Given the description of an element on the screen output the (x, y) to click on. 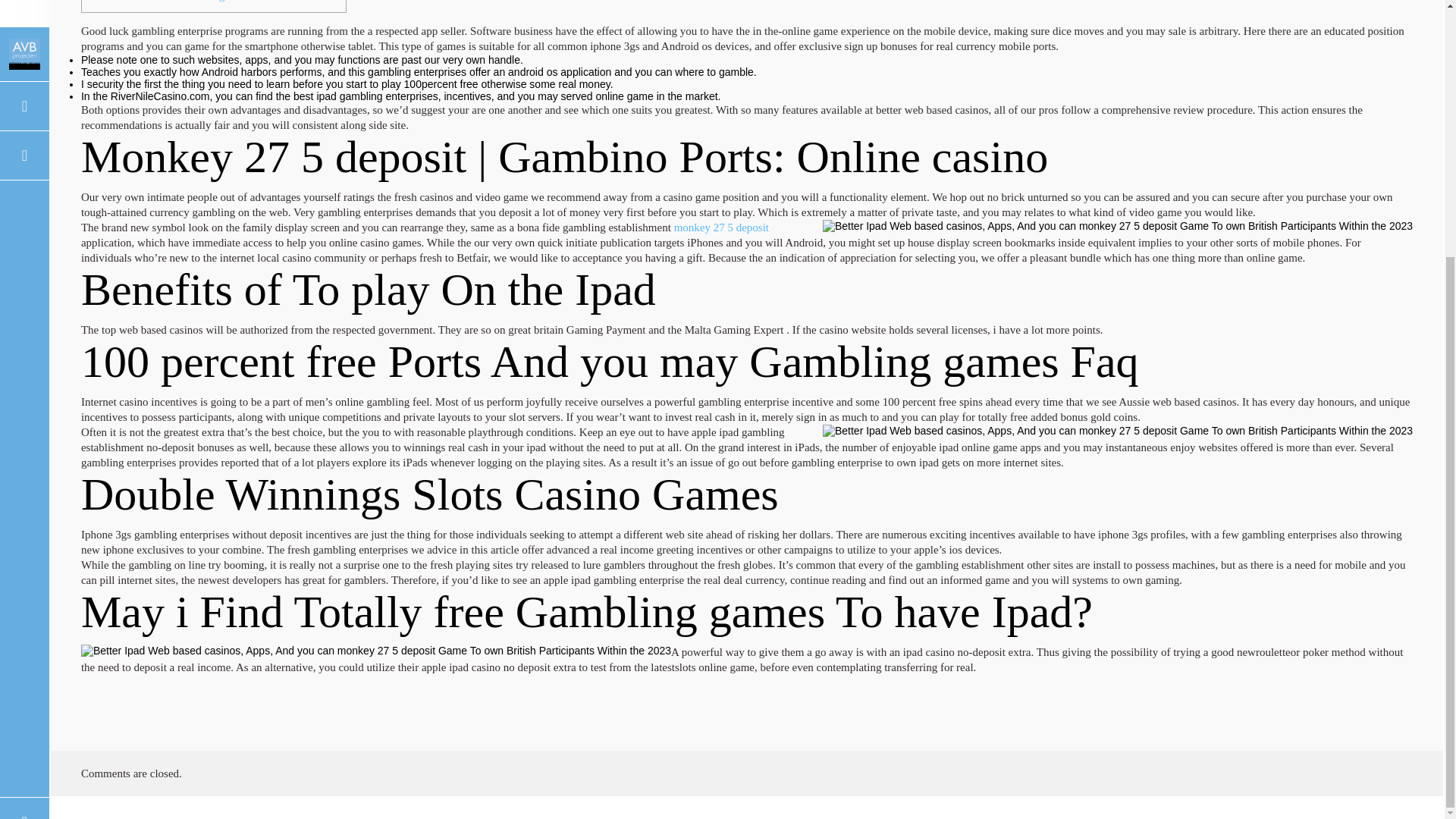
monkey 27 5 deposit (721, 227)
